Given the description of an element on the screen output the (x, y) to click on. 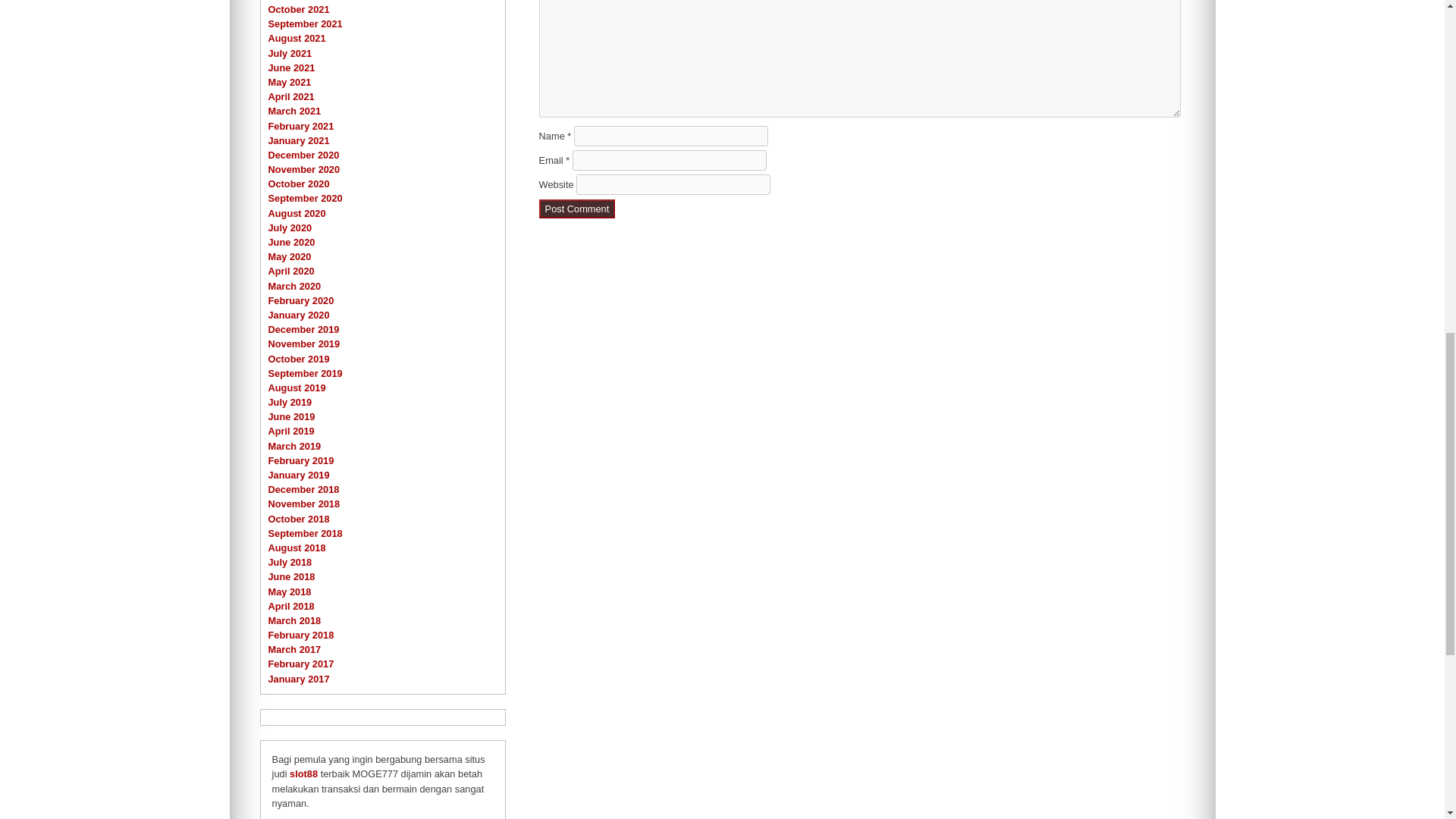
Post Comment (576, 208)
Post Comment (576, 208)
